Given the description of an element on the screen output the (x, y) to click on. 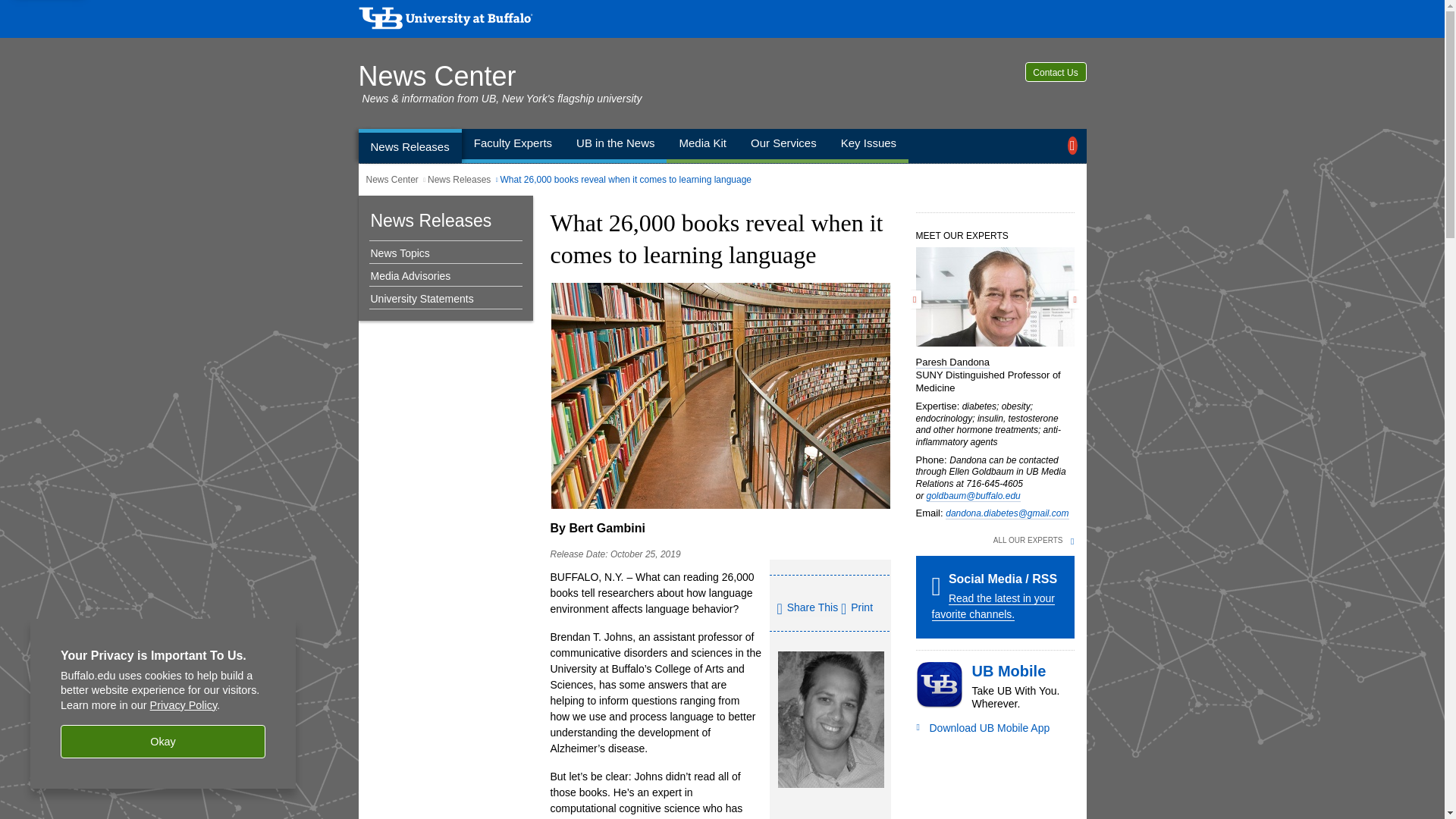
Key Issues (868, 145)
News Releases (459, 179)
News Center (391, 179)
News Releases (409, 145)
Contact Us (1055, 71)
Our Services (783, 145)
Media Kit (702, 145)
Faculty Experts (512, 145)
News Releases (430, 220)
News Topics (441, 253)
